Given the description of an element on the screen output the (x, y) to click on. 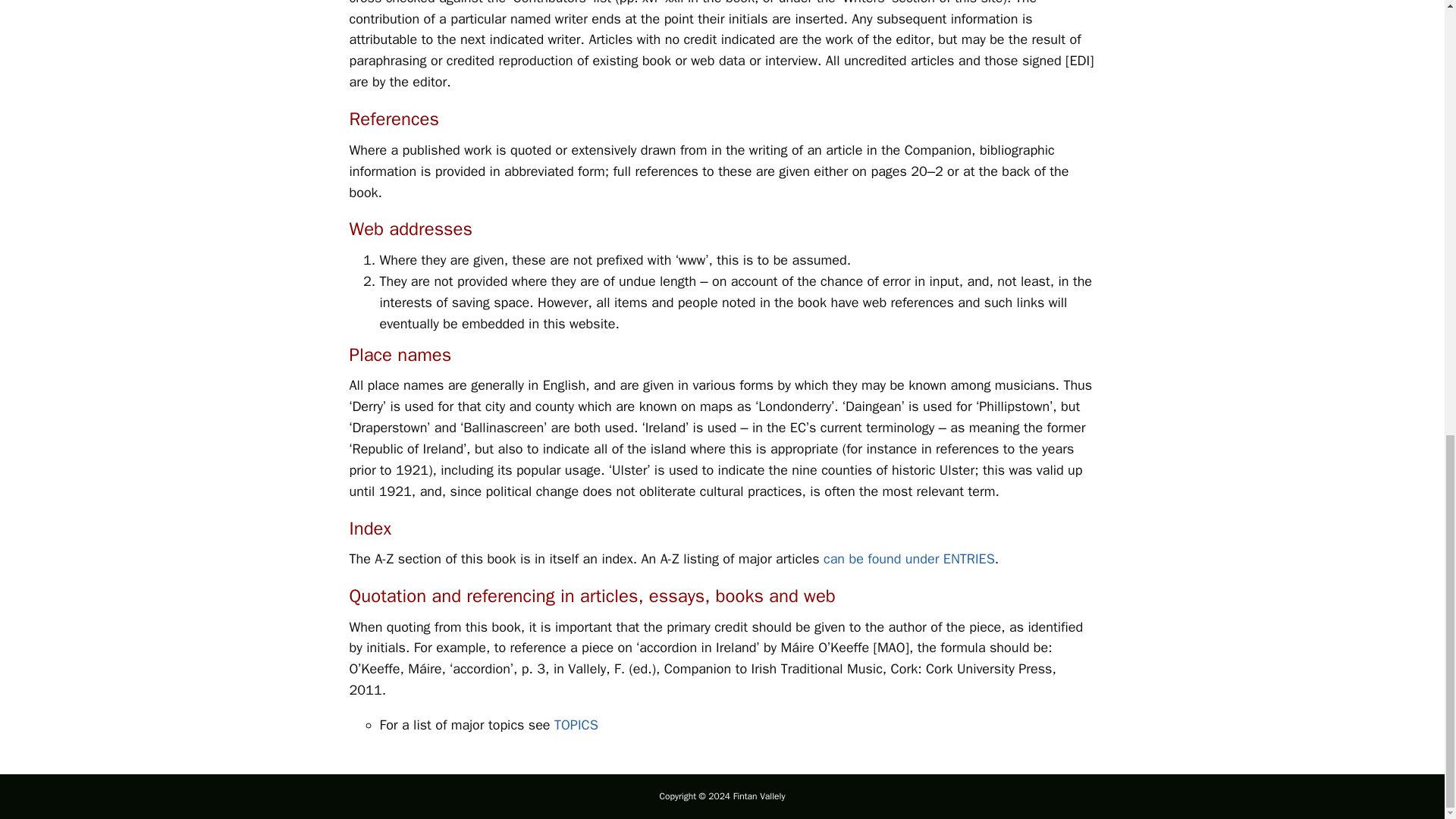
TOPICS (576, 724)
Major Topics (576, 724)
can be found under ENTRIES (909, 558)
